Given the description of an element on the screen output the (x, y) to click on. 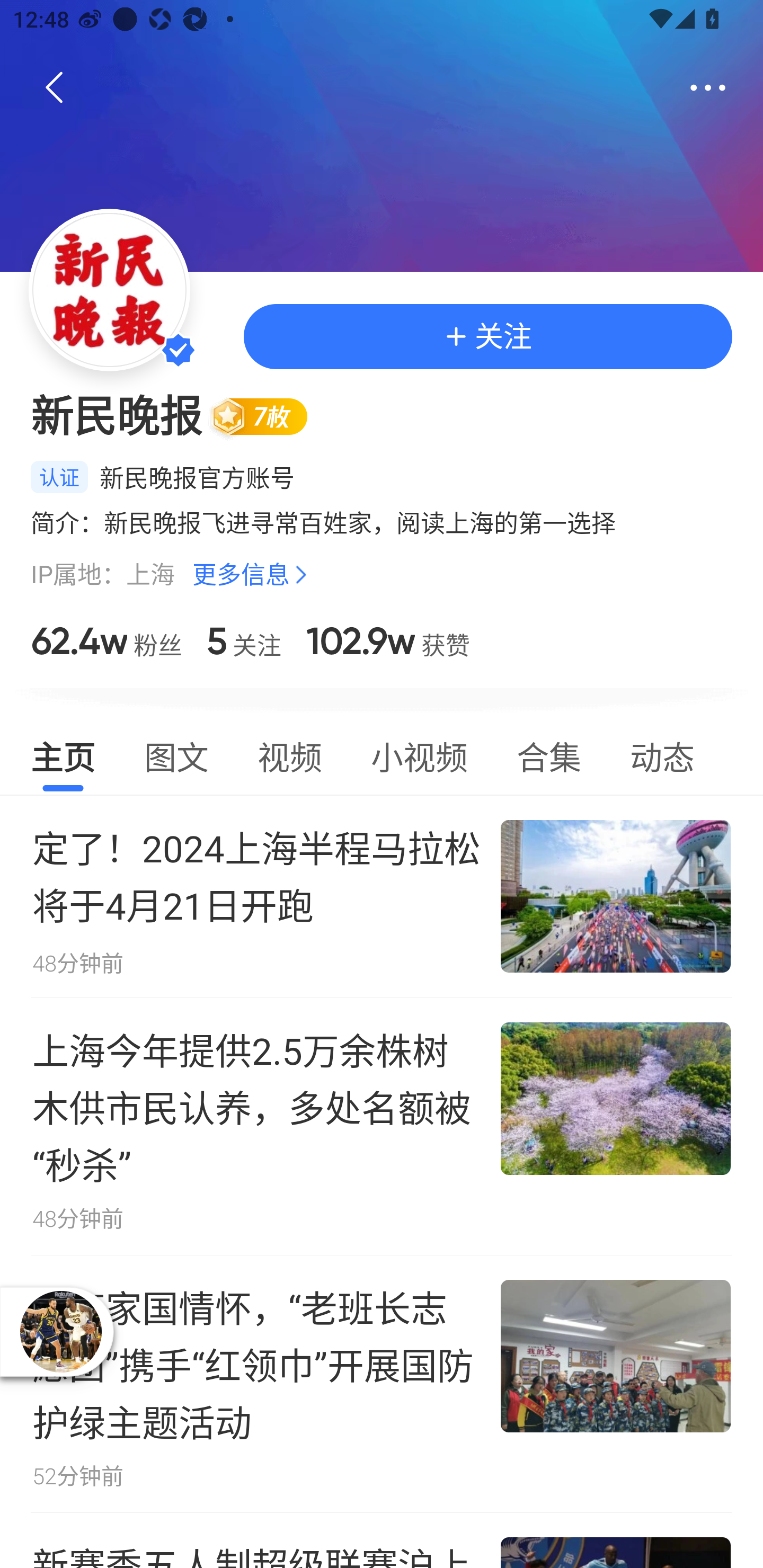
 返回 (54, 87)
 更多 (707, 87)
 关注 (487, 336)
7枚 (266, 416)
认证 (58, 476)
简介：新民晚报飞进寻常百姓家，阅读上海的第一选择 (381, 522)
62.4w 粉丝 (106, 641)
5 关注 (243, 641)
102.9w 获赞 (387, 641)
主页 (62, 754)
图文 (176, 754)
视频 (289, 754)
小视频 (419, 754)
合集 (548, 754)
动态 (661, 754)
定了！2024上海半程马拉松将于4月21日开跑 48分钟前 (381, 895)
上海今年提供2.5万余株树木供市民认养，多处名额被“秒杀” 48分钟前 (381, 1125)
共育家国情怀，“老班长志愿团”携手“红领巾”开展国防护绿主题活动 52分钟前 (381, 1384)
播放器 (60, 1331)
